Given the description of an element on the screen output the (x, y) to click on. 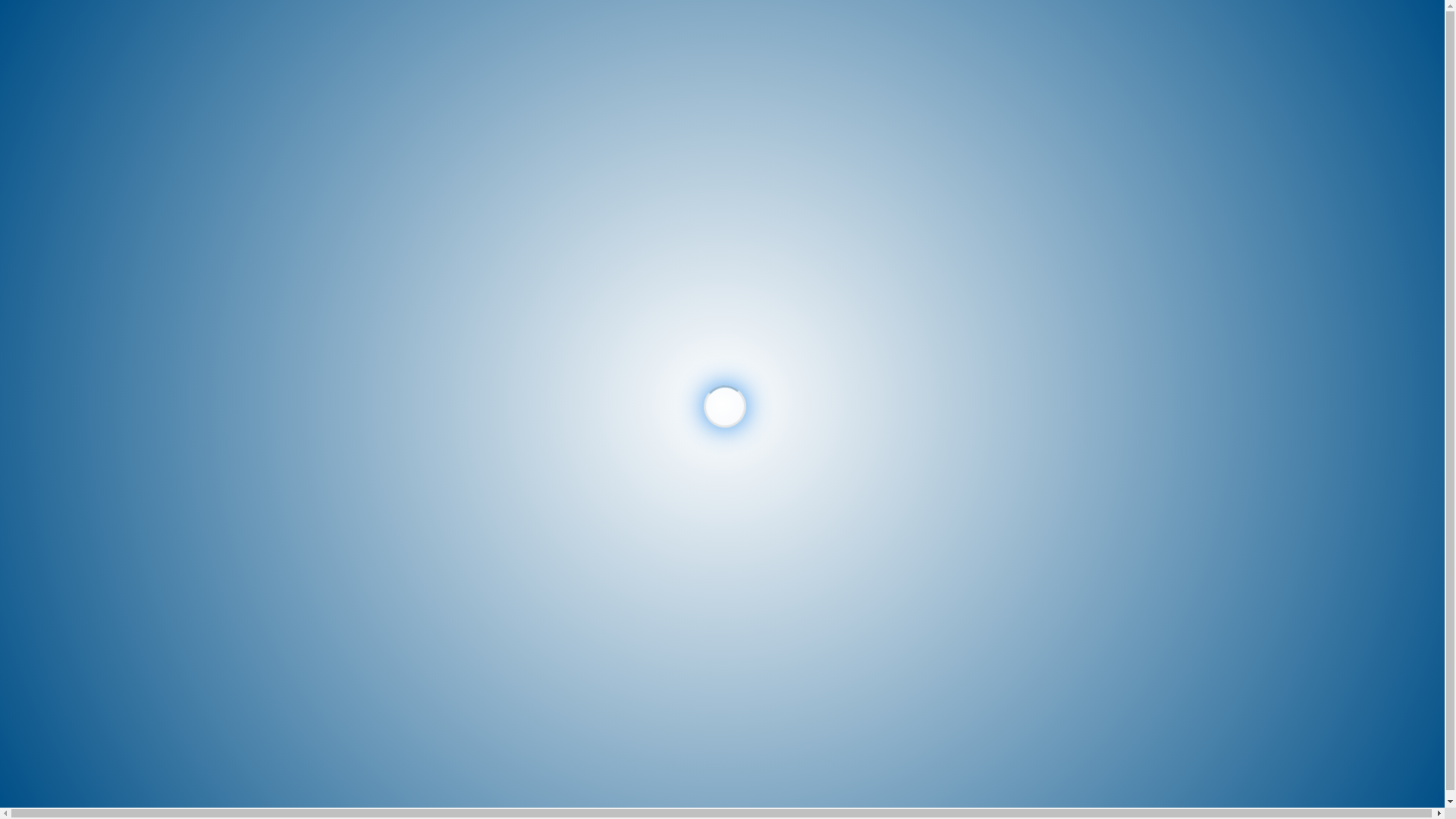
TOGGLE NAVIGATION MENU Element type: text (83, 80)
PRODUCTS Element type: text (63, 165)
Equpment website Element type: hover (785, 324)
HOME Element type: text (51, 145)
ABOUT Element type: text (53, 223)
PORTFOLIO Element type: text (65, 184)
TESTIMONIAL Element type: text (70, 203)
Yatco BoatDeck Element type: text (690, 380)
Yachtandboat Element type: hover (1296, 324)
Caravan Element type: hover (613, 324)
Boatdeck Element type: hover (443, 324)
SUPPORT Element type: text (1403, 26)
Machinery Website Element type: hover (955, 324)
Ghost Voice Mail Element type: hover (1126, 324)
CONTACT Element type: text (60, 242)
